Given the description of an element on the screen output the (x, y) to click on. 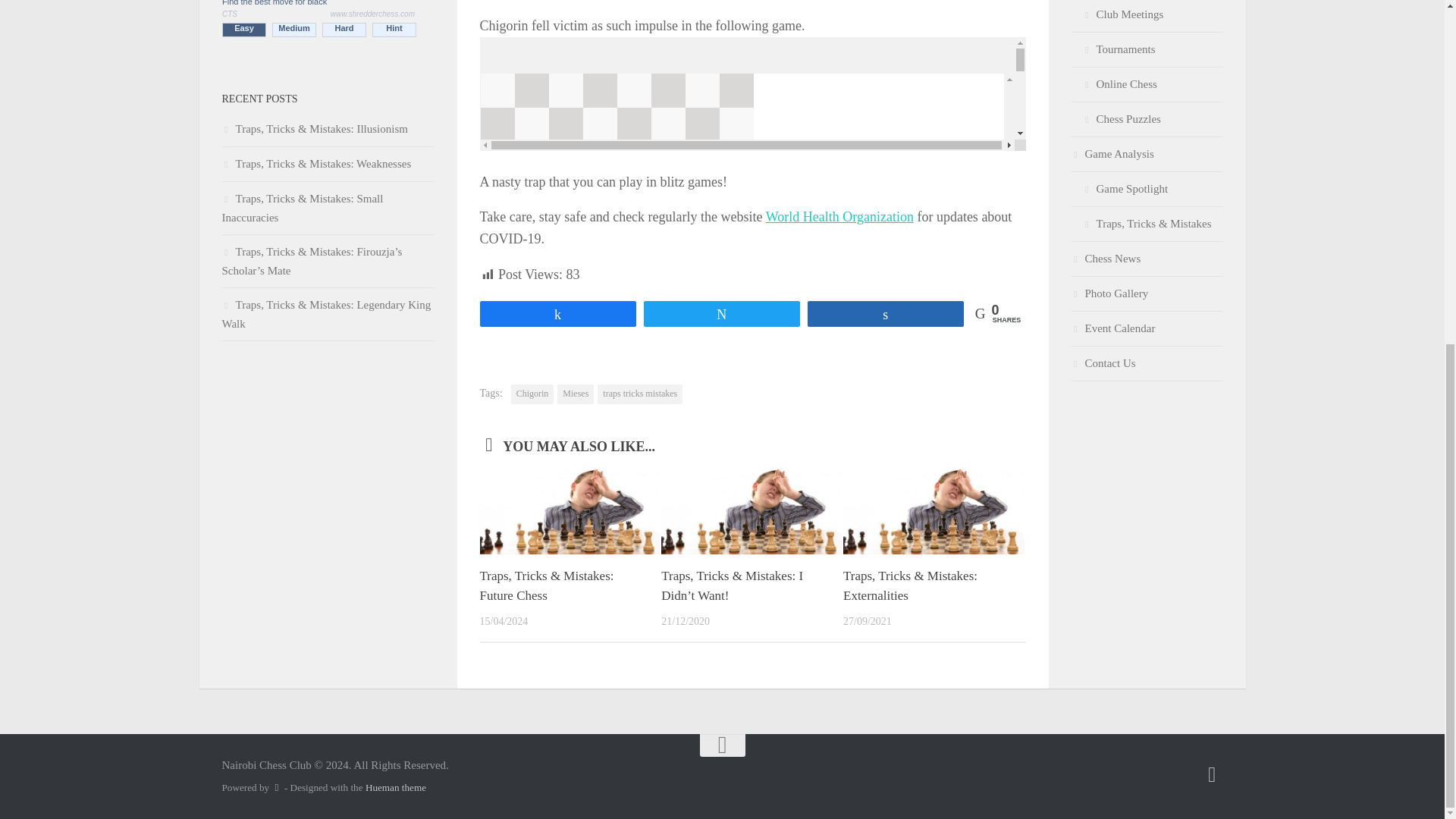
Follow us on Facebook (1212, 774)
Hueman theme (395, 787)
Powered by WordPress (275, 787)
